Given the description of an element on the screen output the (x, y) to click on. 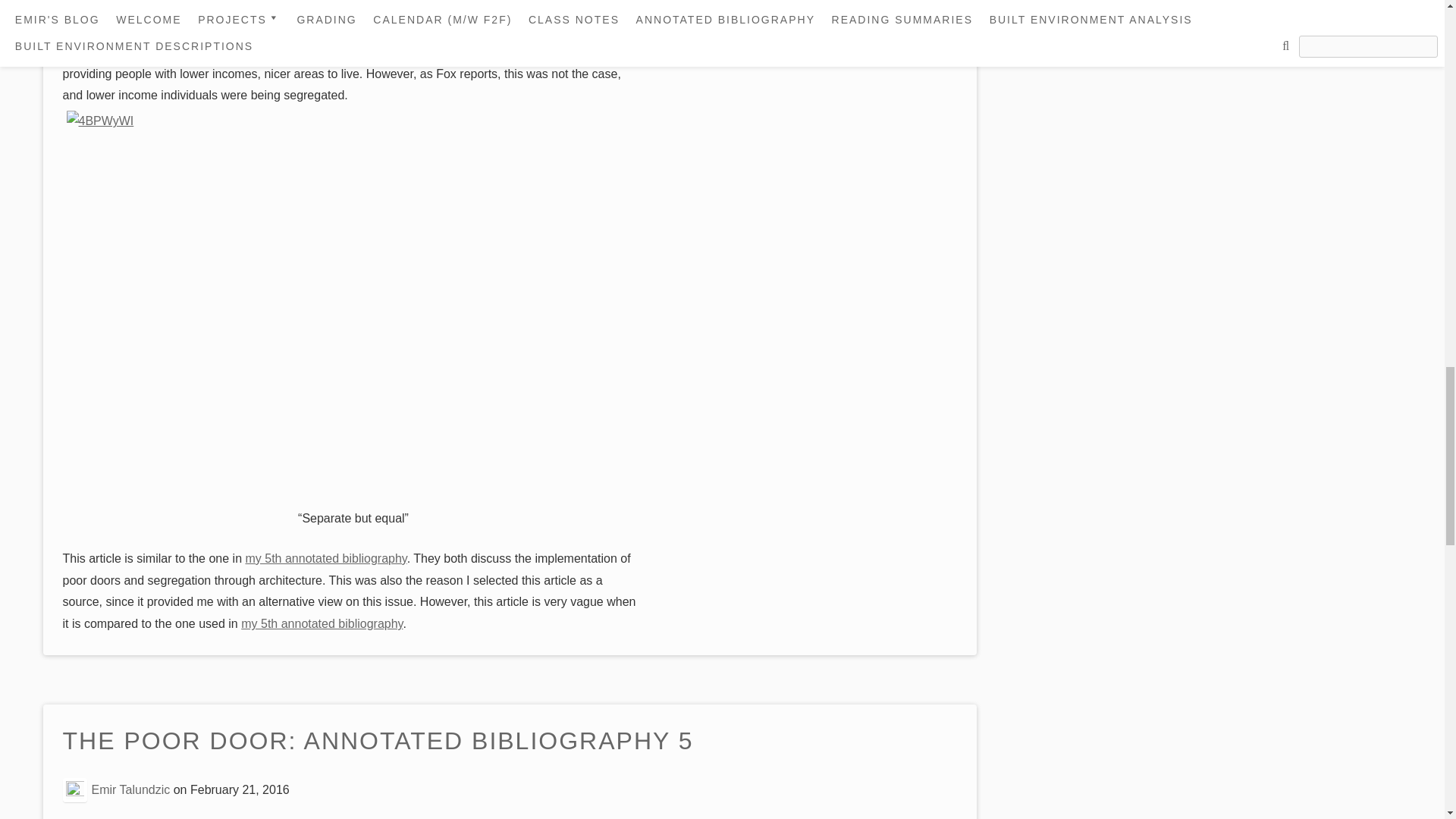
my 5th annotated bibliography (322, 623)
my 5th annotated bibliography (326, 558)
